Given the description of an element on the screen output the (x, y) to click on. 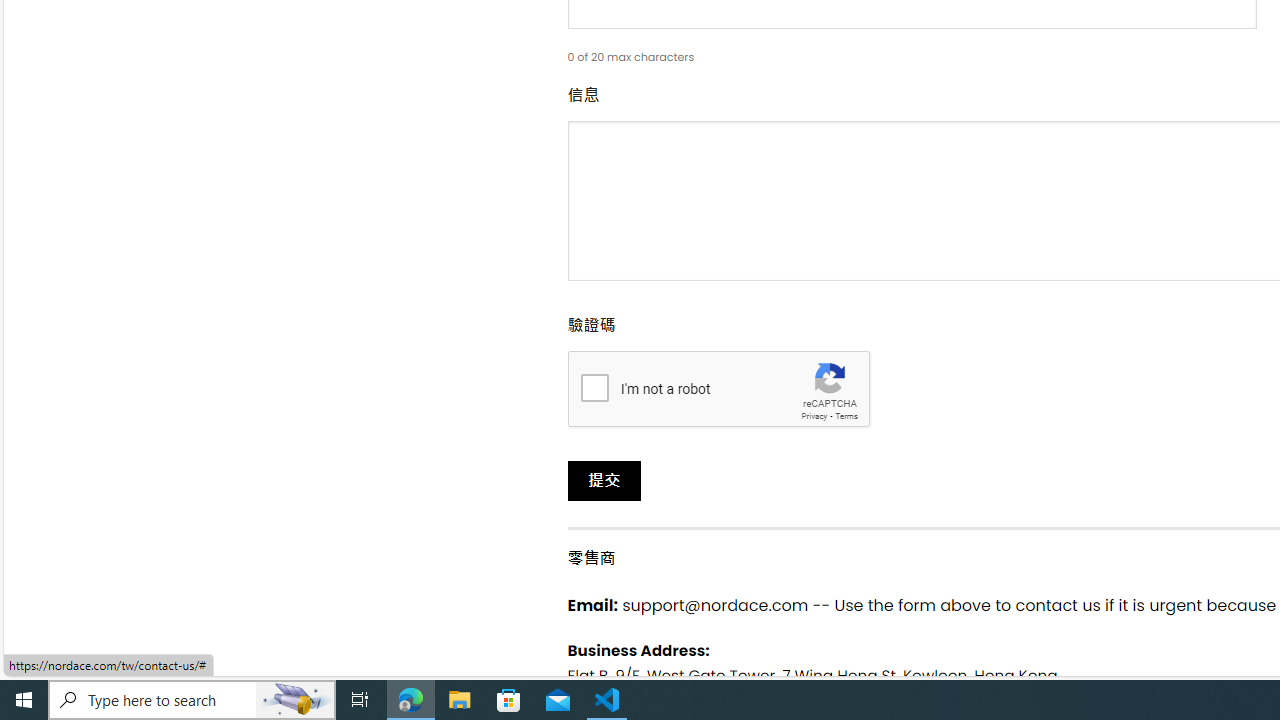
I'm not a robot (594, 386)
Terms (846, 416)
